Given the description of an element on the screen output the (x, y) to click on. 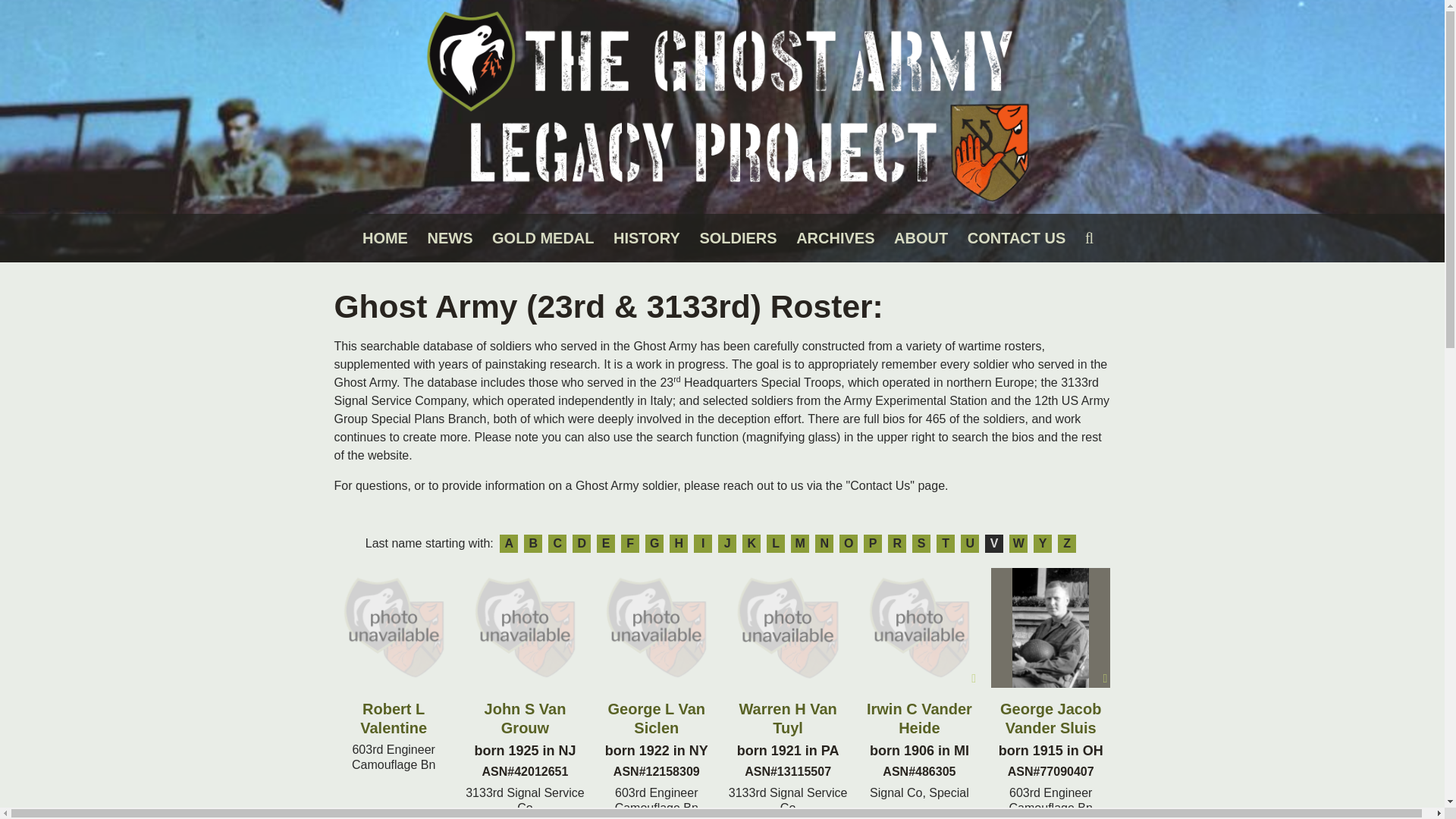
I (702, 543)
NEWS (450, 238)
H (678, 543)
G (654, 543)
HISTORY (645, 238)
ABOUT (920, 238)
F (630, 543)
B (532, 543)
SOLDIERS (737, 238)
HOME (384, 238)
A (508, 543)
CONTACT US (1016, 238)
GOLD MEDAL (543, 238)
C (557, 543)
ARCHIVES (835, 238)
